Given the description of an element on the screen output the (x, y) to click on. 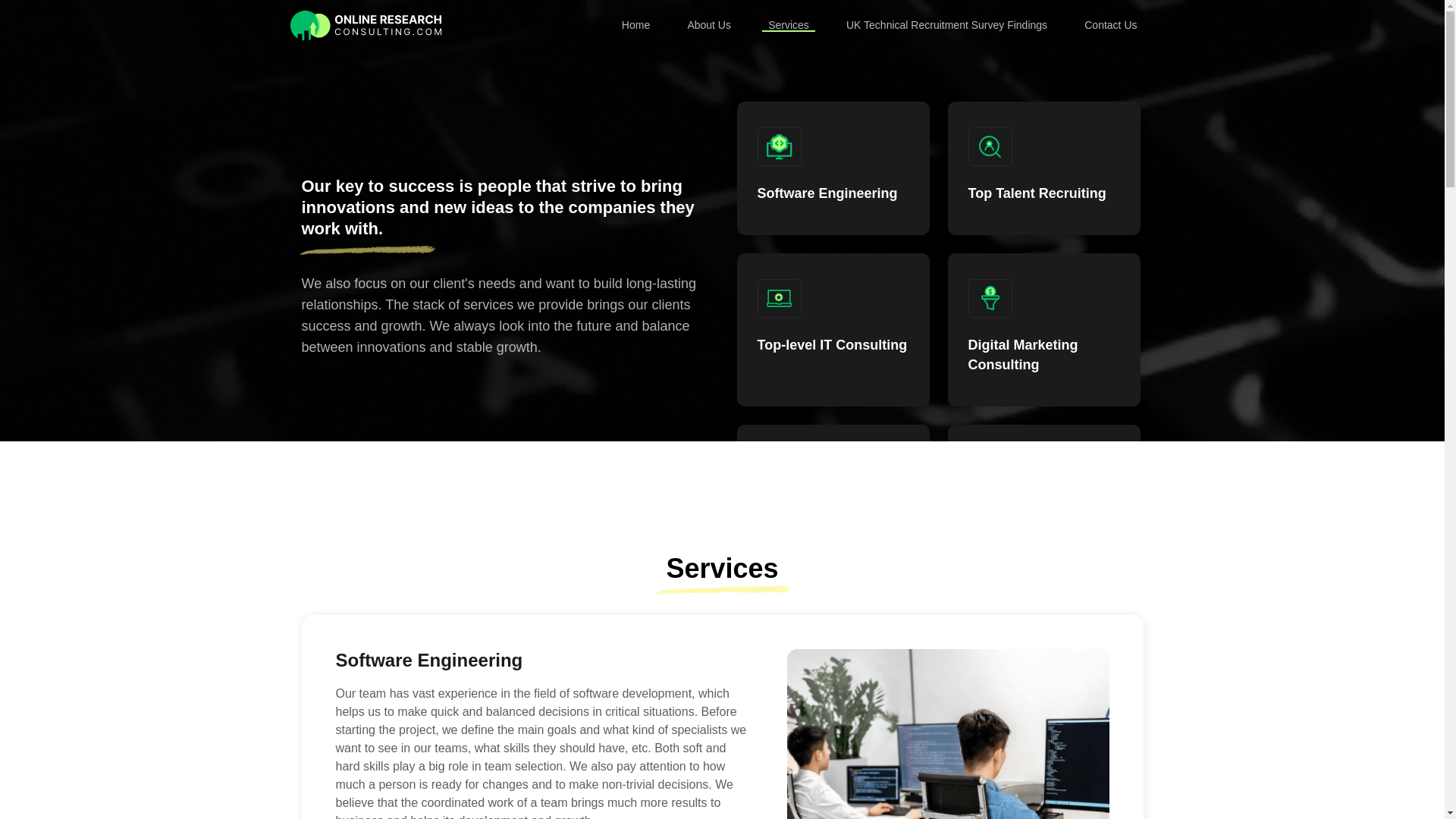
Online Research Consulting (365, 25)
About Us (708, 25)
Services (788, 25)
Home (635, 25)
Contact Us (1110, 25)
UK Technical Recruitment Survey Findings (946, 25)
